Given the description of an element on the screen output the (x, y) to click on. 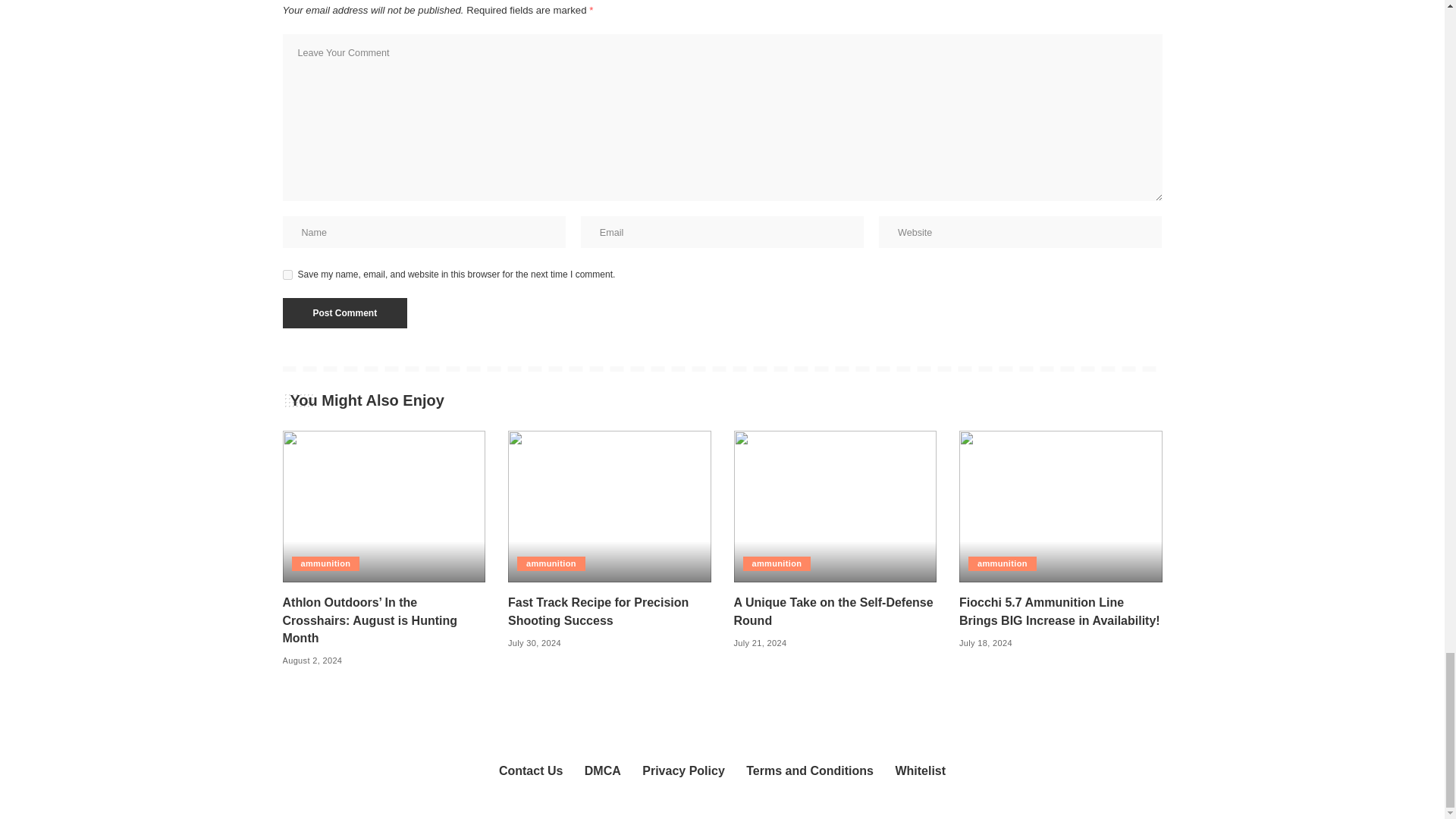
yes (287, 275)
Post Comment (344, 313)
